Given the description of an element on the screen output the (x, y) to click on. 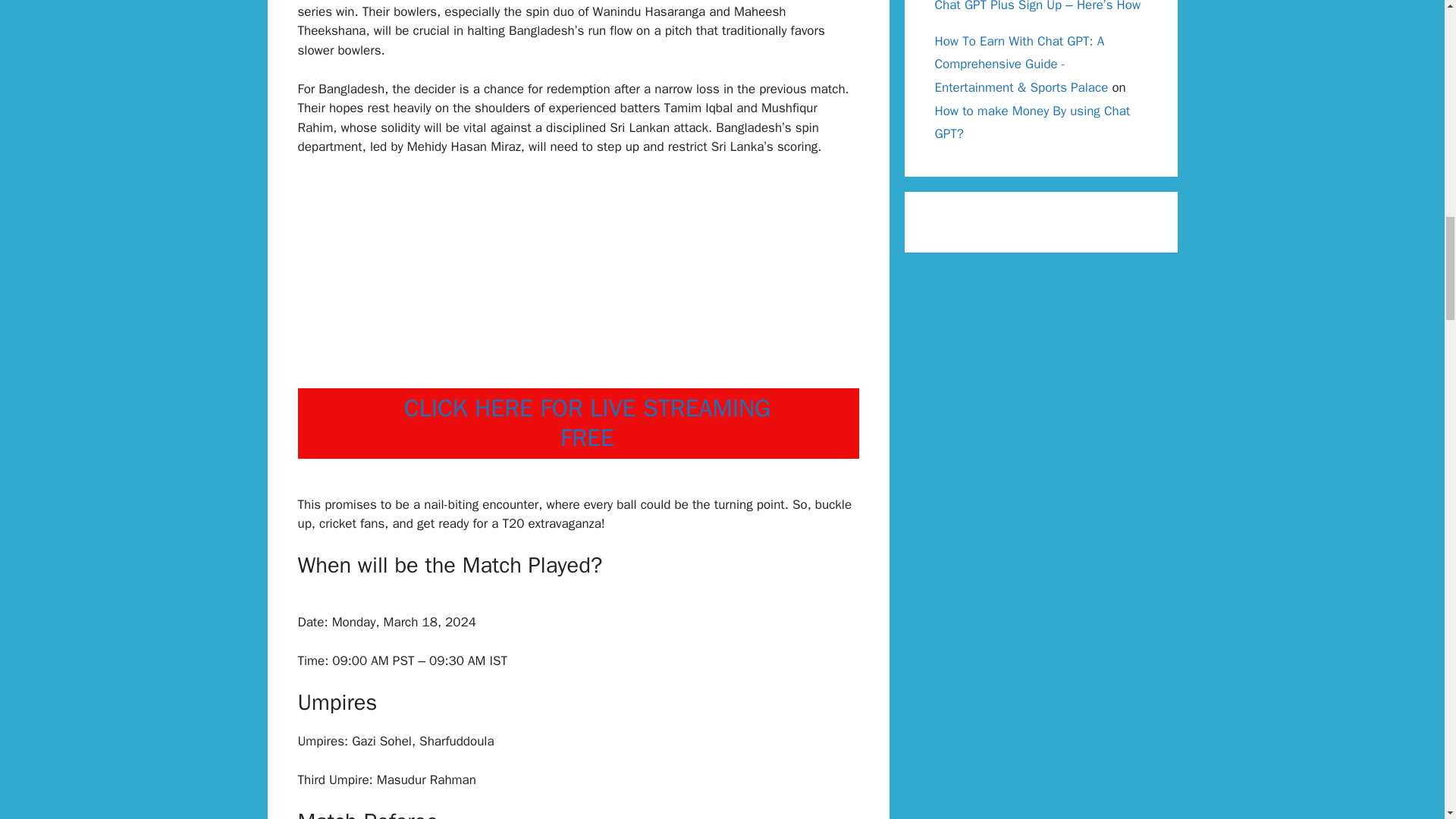
CLICK HERE FOR LIVE STREAMING FREE (587, 422)
Advertisement (578, 282)
